Given the description of an element on the screen output the (x, y) to click on. 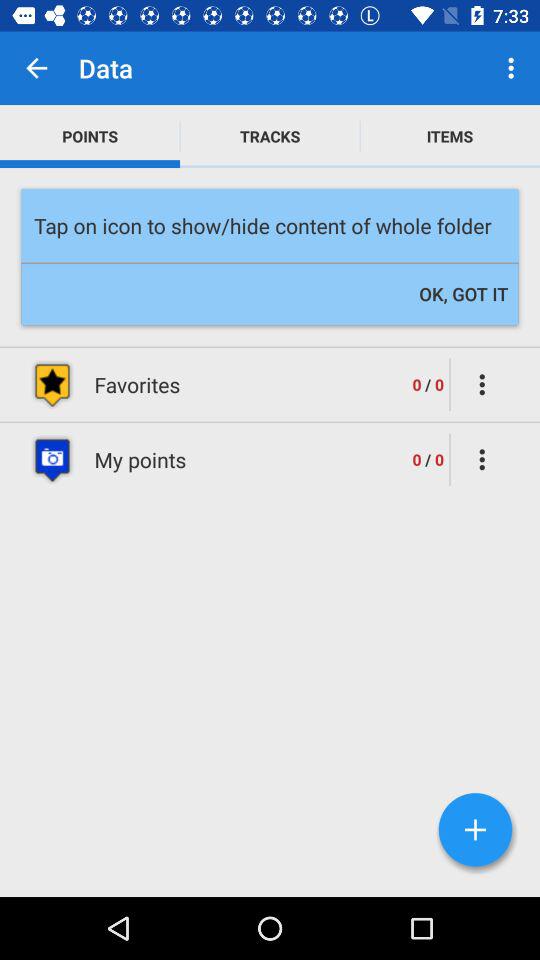
turn on the ok, got it icon (463, 293)
